Given the description of an element on the screen output the (x, y) to click on. 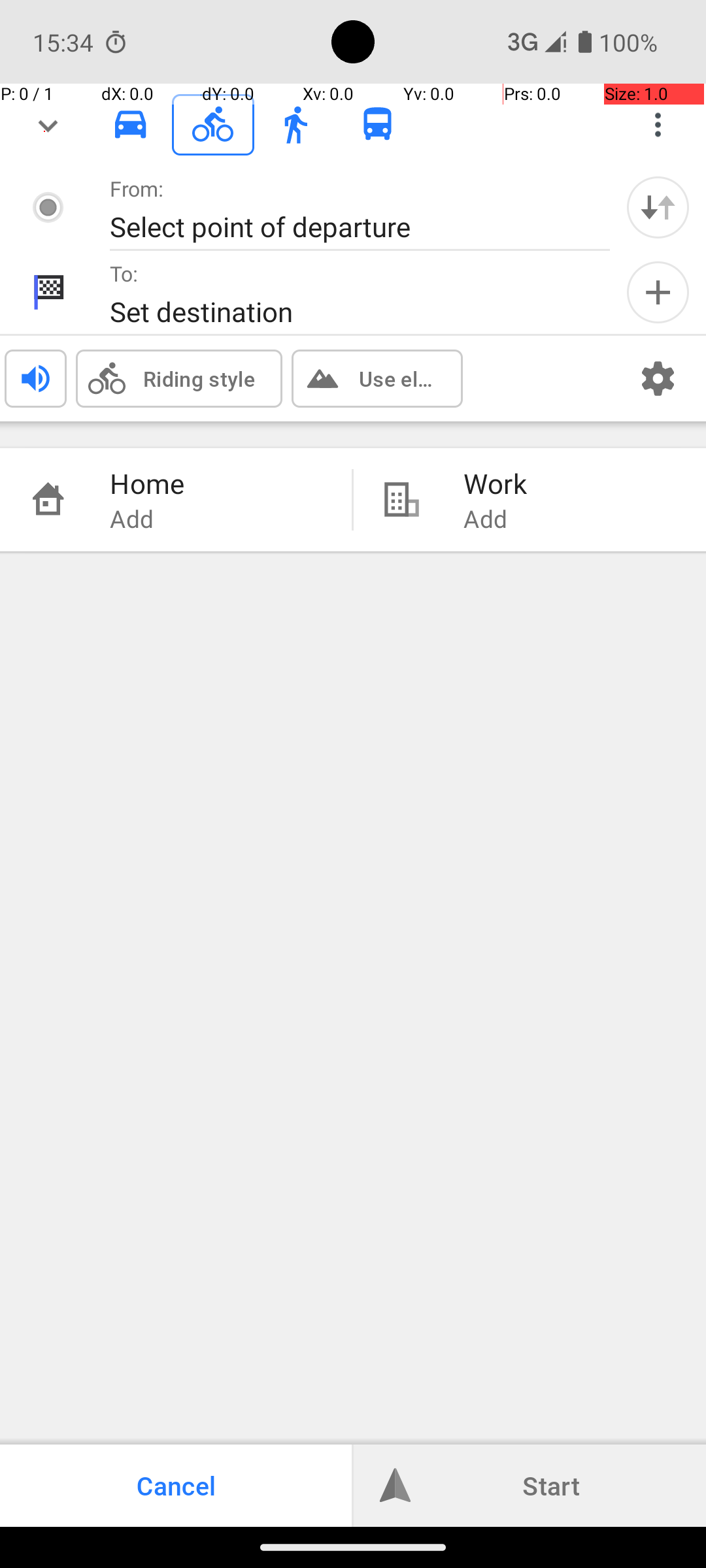
fold/unfold Element type: android.widget.ImageView (48, 124)
Choose app modes Element type: android.widget.ImageView (657, 124)
Driving Element type: android.widget.FrameLayout (130, 124)
Cycling Element type: android.widget.FrameLayout (212, 124)
Walking Element type: android.widget.FrameLayout (295, 124)
Public transport Element type: android.widget.FrameLayout (377, 124)
From: Element type: android.widget.TextView (136, 188)
Select point of departure Element type: android.widget.TextView (345, 226)
Swap Element type: android.widget.FrameLayout (657, 207)
To: Element type: android.widget.TextView (123, 273)
Set destination Element type: android.widget.TextView (345, 310)
Add Element type: android.widget.FrameLayout (657, 292)
Driving unchecked Element type: android.widget.ImageView (130, 124)
Cycling checked Element type: android.widget.ImageView (212, 124)
Walking unchecked Element type: android.widget.ImageView (294, 124)
Public transport unchecked Element type: android.widget.ImageView (377, 124)
Riding style Element type: android.widget.TextView (198, 378)
Use elevation data Element type: android.widget.TextView (396, 378)
